Given the description of an element on the screen output the (x, y) to click on. 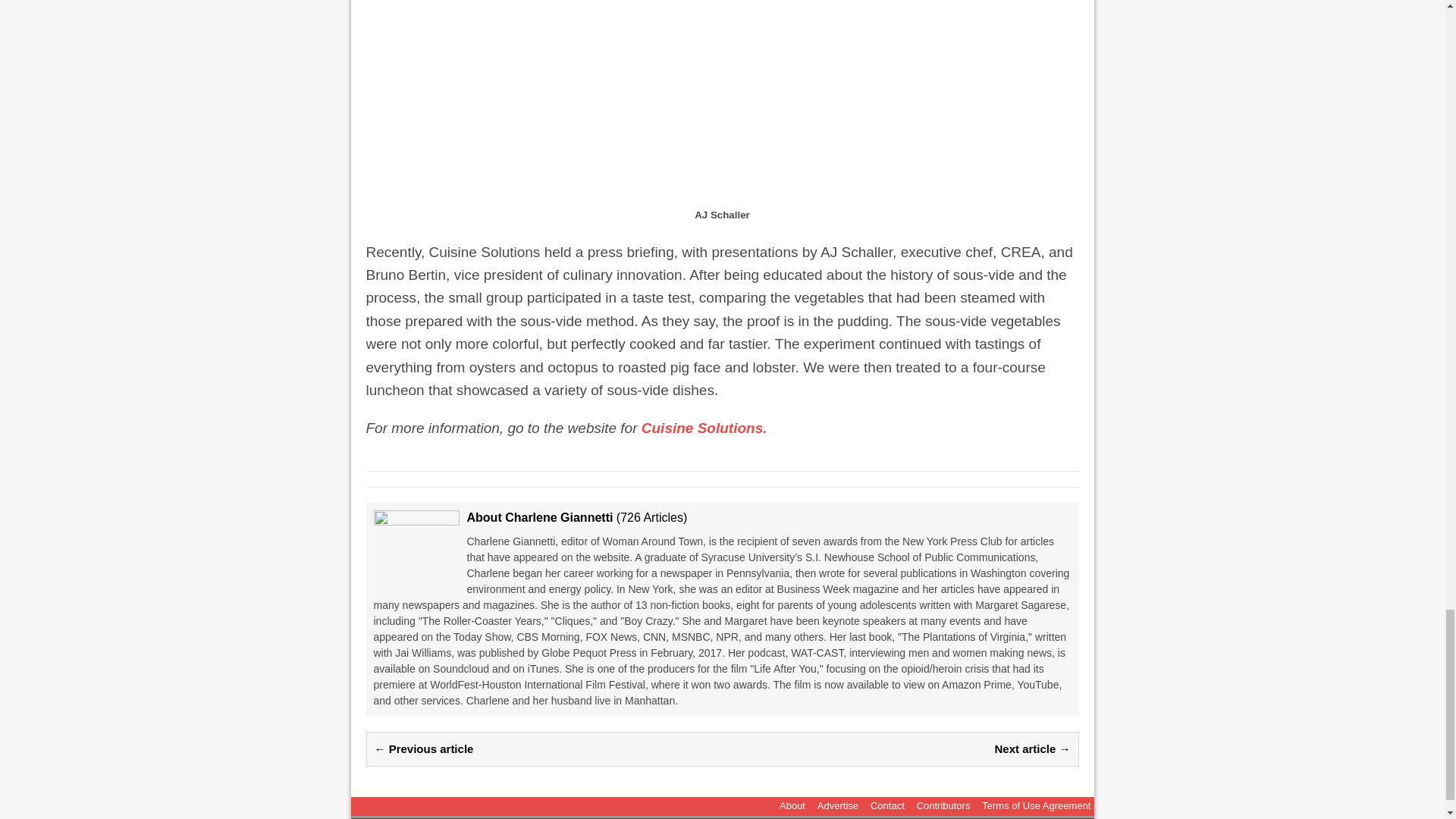
Terms of Use Agreement (1035, 805)
Contact (887, 805)
Cuisine Solutions. (704, 427)
Advertise (837, 805)
Contributors (942, 805)
About (791, 805)
726 Articles (651, 517)
More articles written by Charlene Giannetti (651, 517)
